Given the description of an element on the screen output the (x, y) to click on. 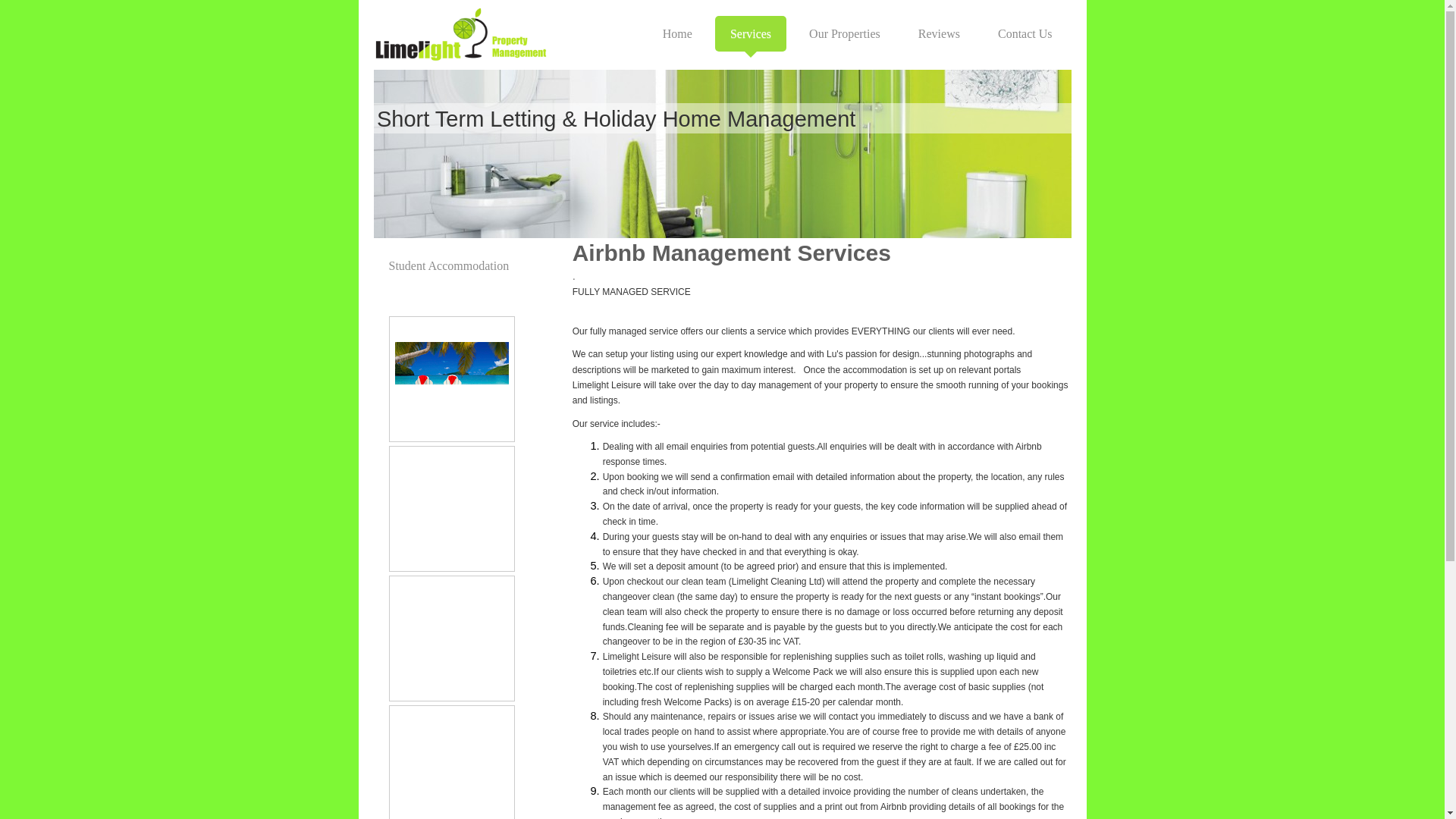
Services (750, 33)
Student Accommodation (464, 266)
Reviews (938, 33)
Contact Us (1024, 33)
Our Properties (844, 33)
Home (677, 33)
